Given the description of an element on the screen output the (x, y) to click on. 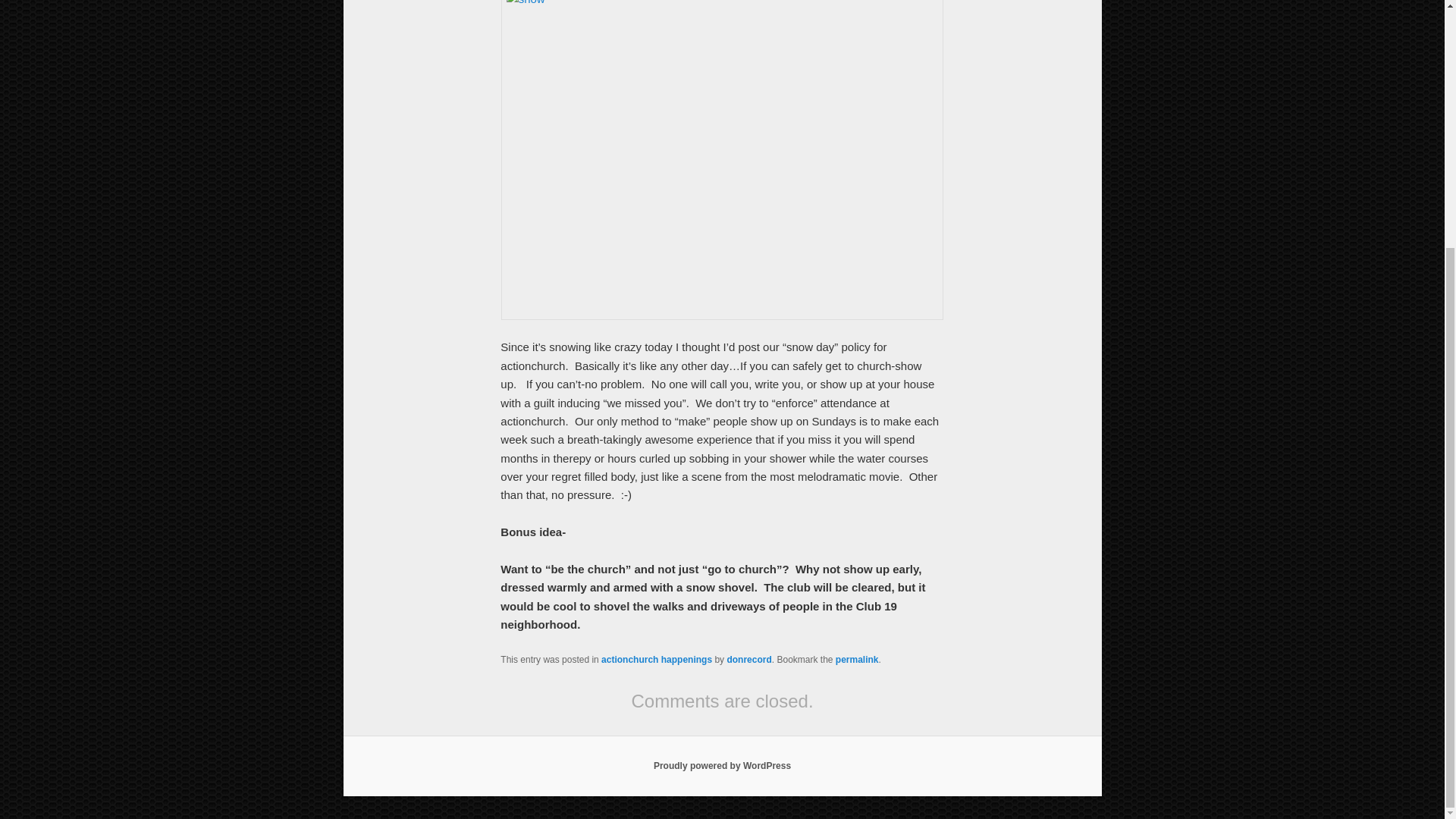
Permalink to Not Canceled (857, 659)
donrecord (748, 659)
Proudly powered by WordPress (721, 765)
permalink (857, 659)
Semantic Personal Publishing Platform (721, 765)
actionchurch happenings (656, 659)
